Given the description of an element on the screen output the (x, y) to click on. 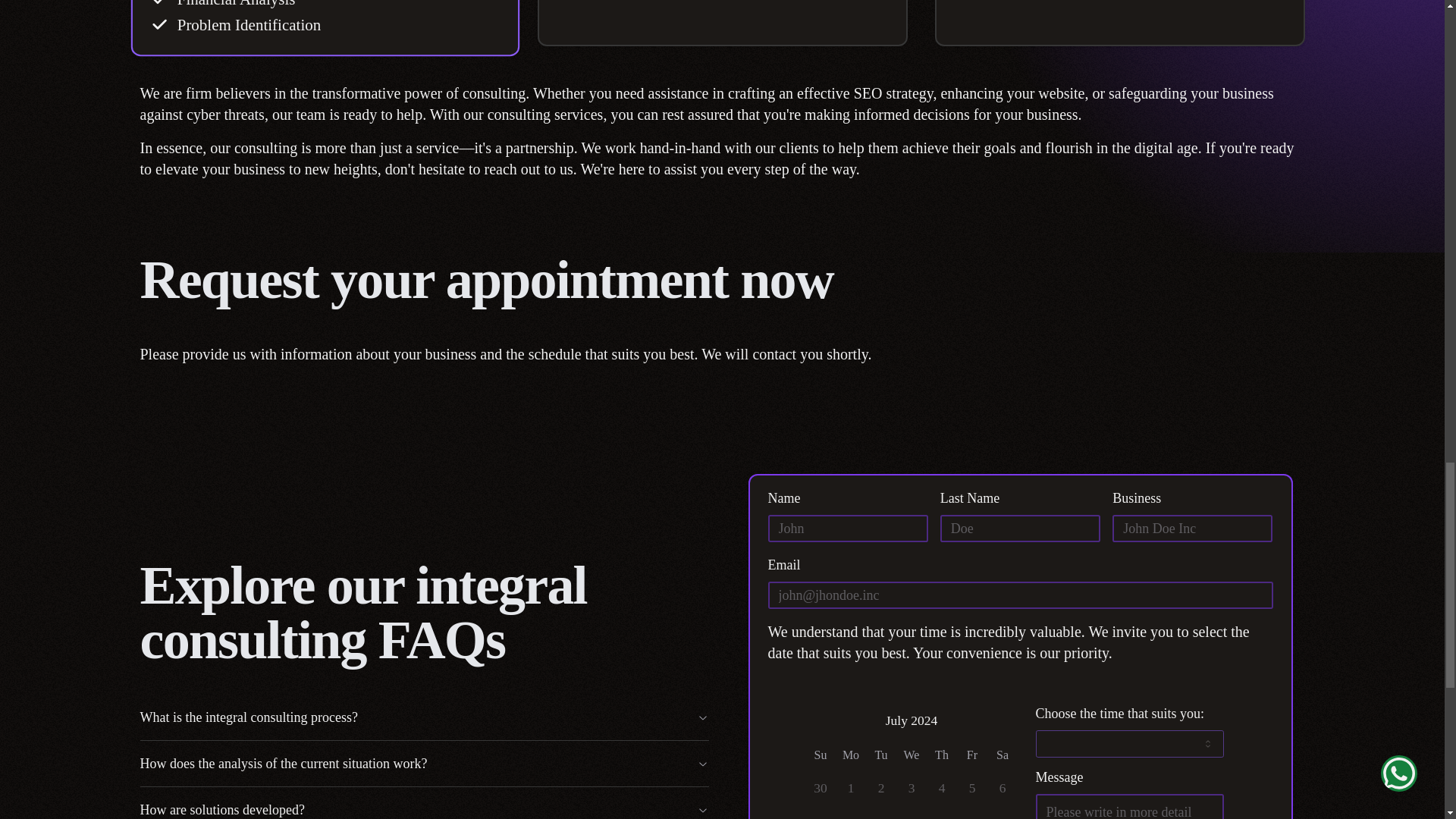
Problem Identification (245, 24)
Financial Analysis (232, 4)
